Given the description of an element on the screen output the (x, y) to click on. 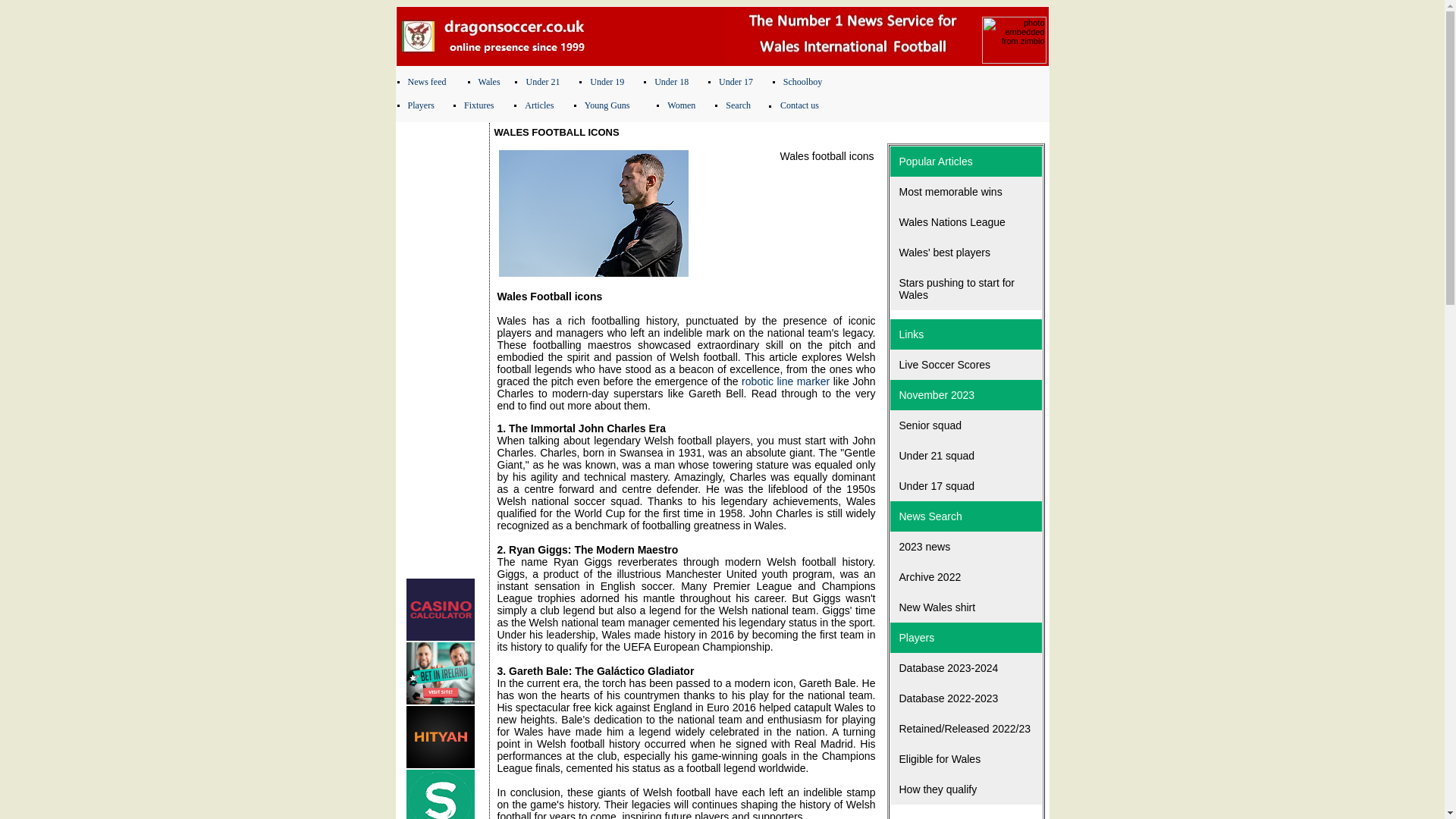
Under 21 (542, 81)
Wales (489, 81)
News feed (426, 81)
Popular Articles (965, 161)
Under 19 (606, 81)
Advertisement (442, 350)
Players (420, 104)
Contact us (799, 104)
Articles (538, 104)
Young Guns (607, 104)
Under 17 (735, 81)
photo embedded from FAW cymru (593, 212)
Women (680, 104)
robotic line marker (785, 381)
Under 18 (670, 81)
